Given the description of an element on the screen output the (x, y) to click on. 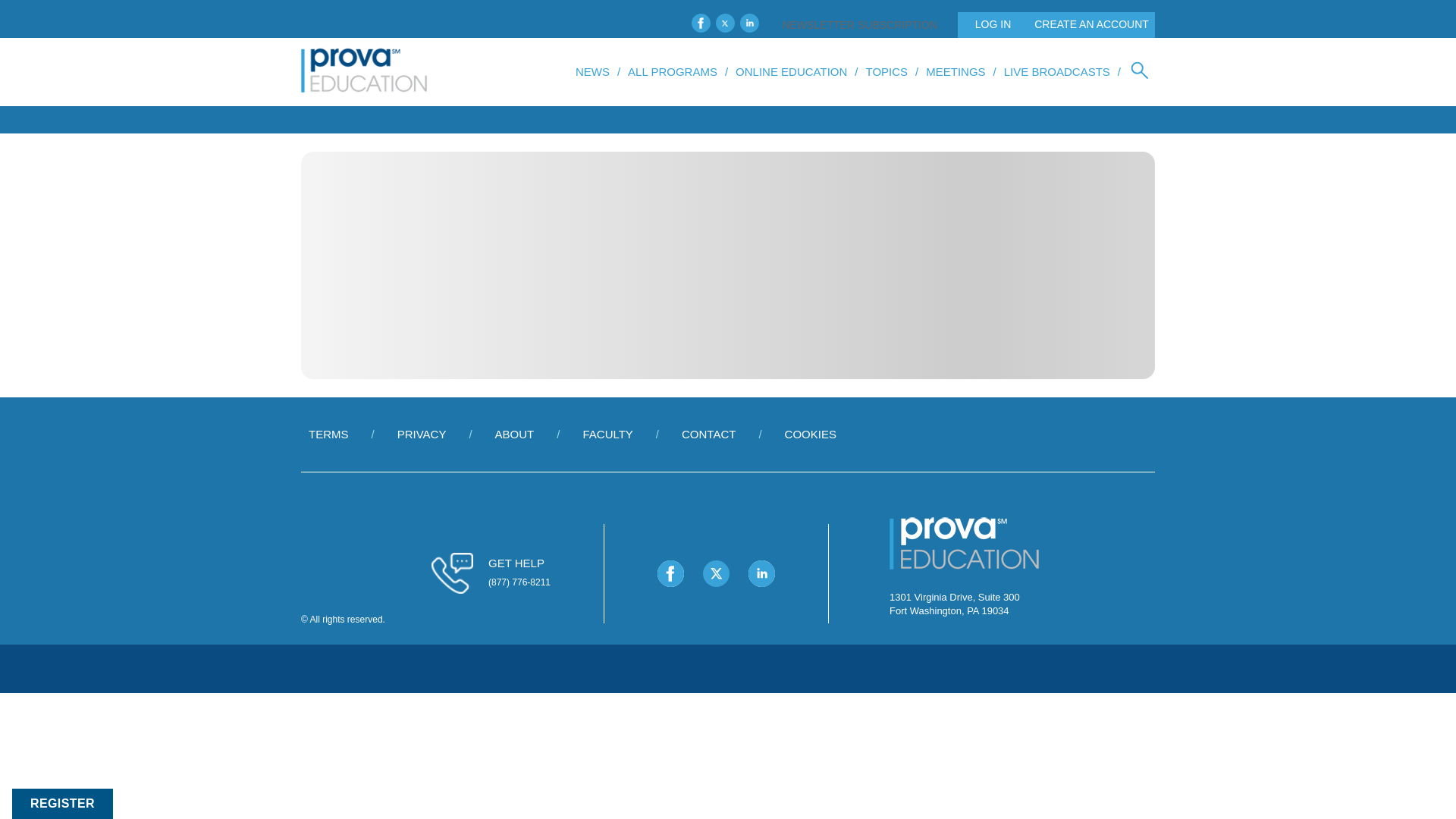
Twitter (725, 22)
CREATE AN ACCOUNT (1087, 24)
LinkedIn (761, 572)
LOG IN (989, 24)
Phone icon (451, 572)
Prova Education (364, 71)
LinkedIn (748, 22)
Prova Education (964, 543)
Twitter (716, 572)
Prova Education (964, 572)
